Given the description of an element on the screen output the (x, y) to click on. 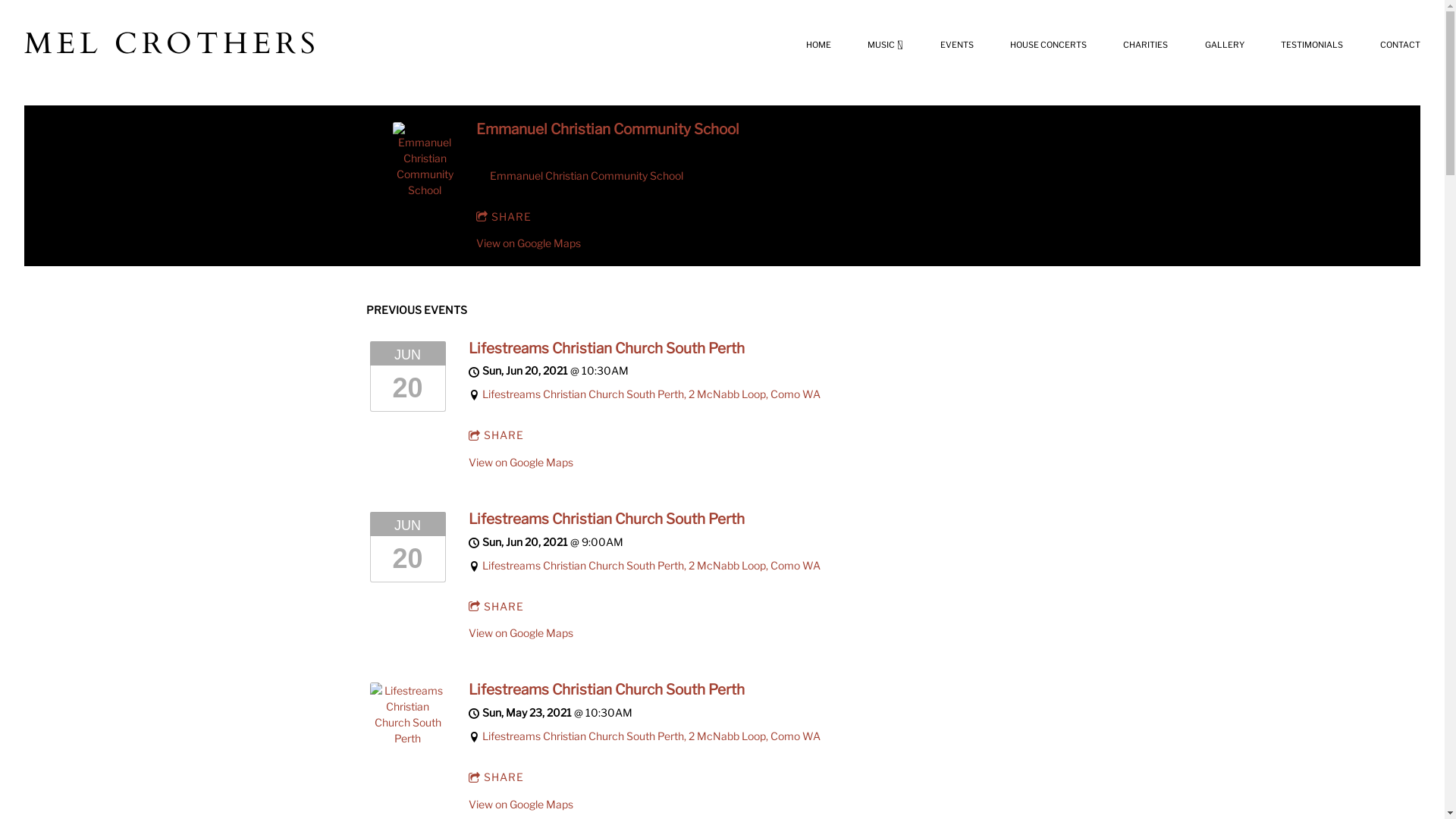
MEL CROTHERS Element type: text (171, 44)
View on Google Maps Element type: text (520, 461)
GALLERY Element type: text (1224, 44)
View on Google Maps Element type: text (528, 242)
Lifestreams Christian Church South Perth Element type: text (606, 689)
Lifestreams Christian Church South Perth Element type: text (606, 518)
Emmanuel Christian Community School Element type: text (607, 128)
SHARE Element type: text (496, 606)
Emmanuel Christian Community School Element type: hover (424, 189)
SHARE Element type: text (496, 434)
MUSIC Element type: text (885, 44)
TESTIMONIALS Element type: text (1311, 44)
SHARE Element type: text (504, 216)
CHARITIES Element type: text (1145, 44)
EVENTS Element type: text (956, 44)
Emmanuel Christian Community School Element type: text (586, 175)
View on Google Maps Element type: text (520, 632)
Lifestreams Christian Church South Perth Element type: text (606, 347)
Lifestreams Christian Church South Perth Element type: hover (407, 737)
CONTACT Element type: text (1400, 44)
View on Google Maps Element type: text (520, 803)
HOME Element type: text (818, 44)
HOUSE CONCERTS Element type: text (1048, 44)
SHARE Element type: text (496, 776)
